Given the description of an element on the screen output the (x, y) to click on. 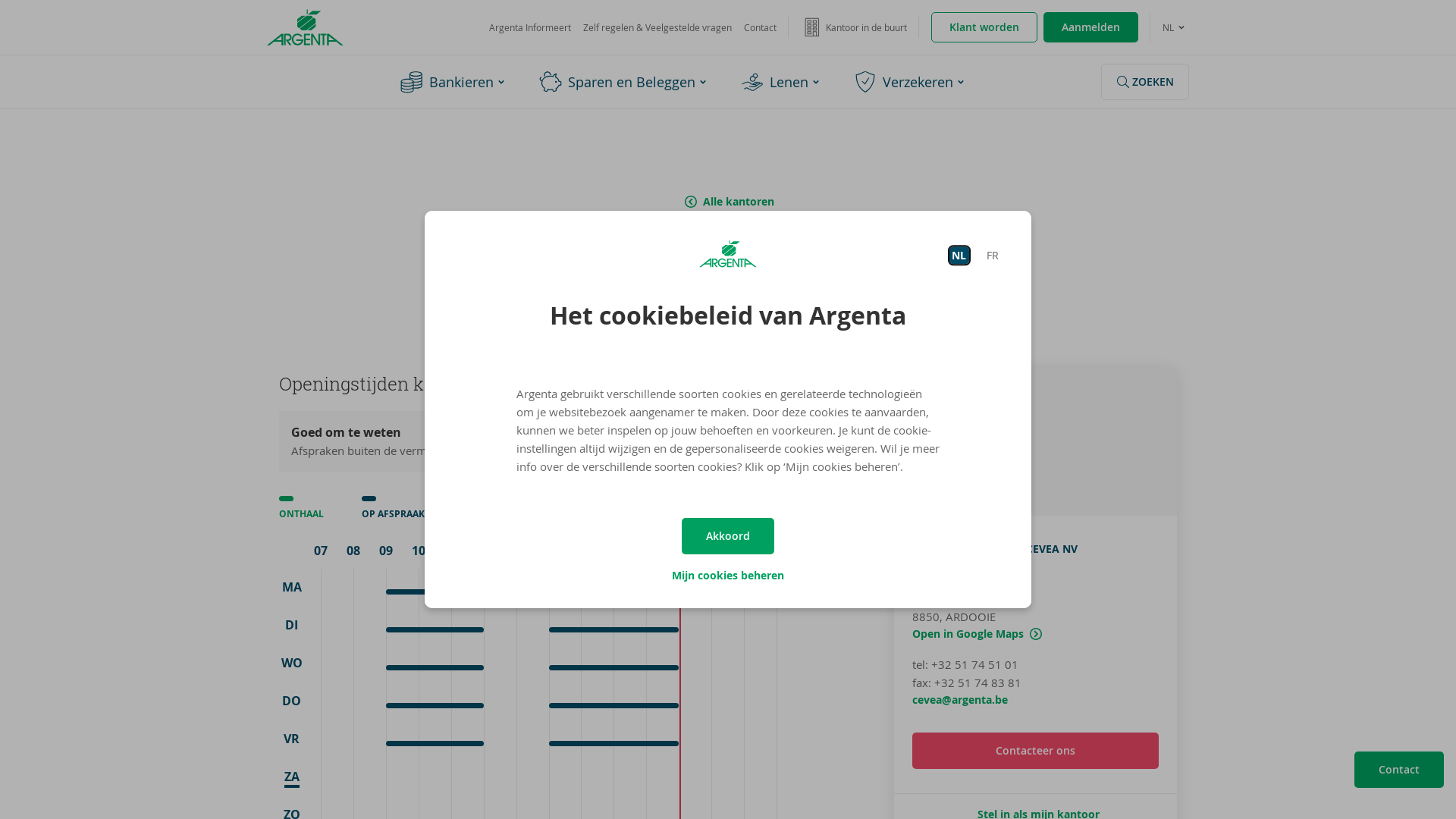
Argenta Homepage
Argenta Element type: text (304, 27)
Contact Element type: text (1398, 769)
FR Element type: text (992, 254)
Kantoor in de buurt Element type: text (853, 26)
Klant worden Element type: text (984, 27)
ZOEKEN Element type: text (1145, 81)
Zelf regelen & Veelgestelde vragen Element type: text (657, 27)
Verzekeren Element type: text (910, 81)
Open in Google Maps Element type: text (1035, 441)
NL Element type: text (1175, 26)
cevea@argenta.be Element type: text (959, 699)
NL Element type: text (959, 254)
Mijn cookies beheren Element type: text (727, 575)
Aanmelden Element type: text (1090, 27)
Bankieren Element type: text (454, 81)
Sparen en Beleggen Element type: text (623, 81)
Argenta Informeert Element type: text (530, 27)
+32 51 74 51 01 Element type: text (974, 663)
Akkoord Element type: text (727, 535)
Lenen Element type: text (780, 81)
Contact Element type: text (759, 27)
Contacteer ons Element type: text (1035, 750)
